Given the description of an element on the screen output the (x, y) to click on. 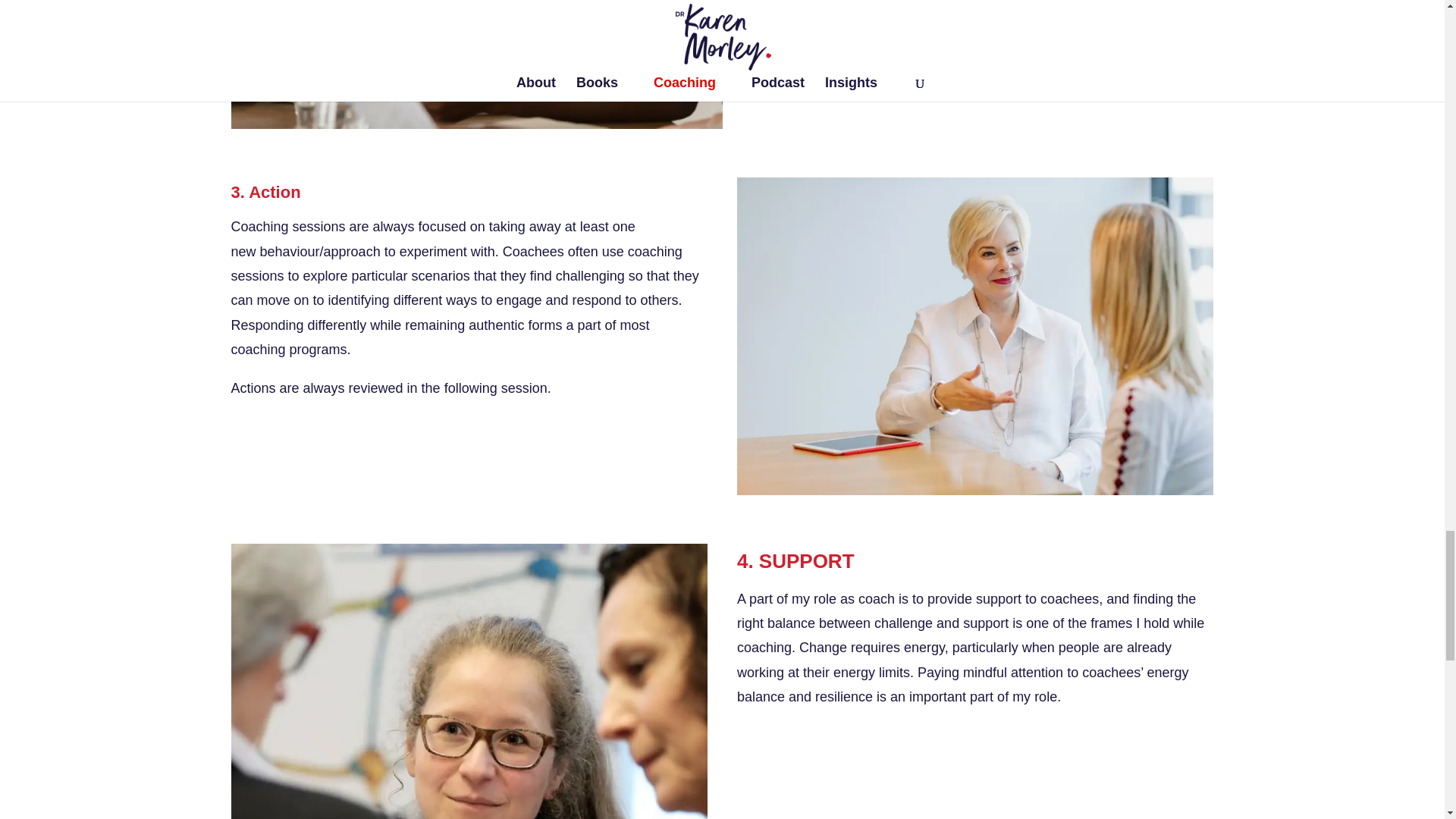
Gender-Diversity-6 (476, 64)
Leadership-Coaching-Approach-5 (468, 681)
